Given the description of an element on the screen output the (x, y) to click on. 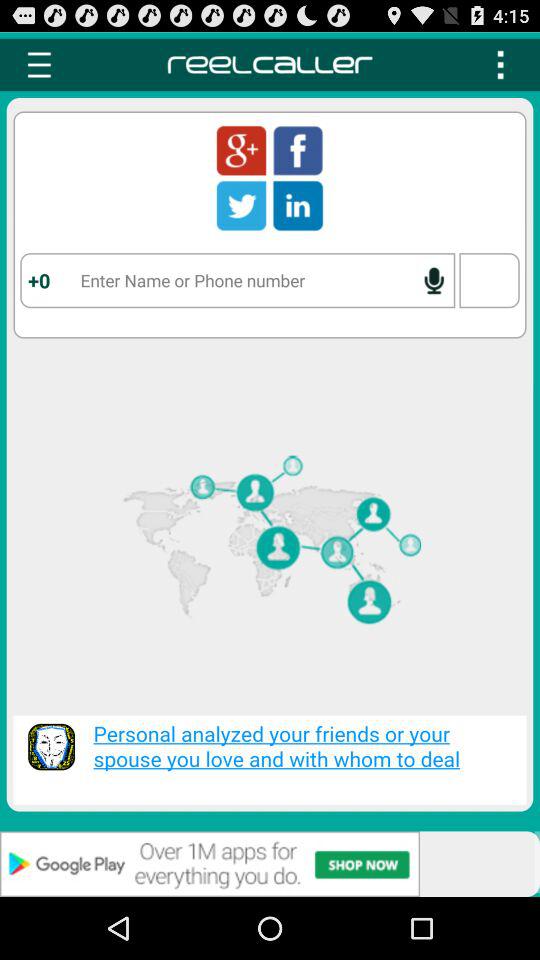
go to linkedin (297, 205)
